Given the description of an element on the screen output the (x, y) to click on. 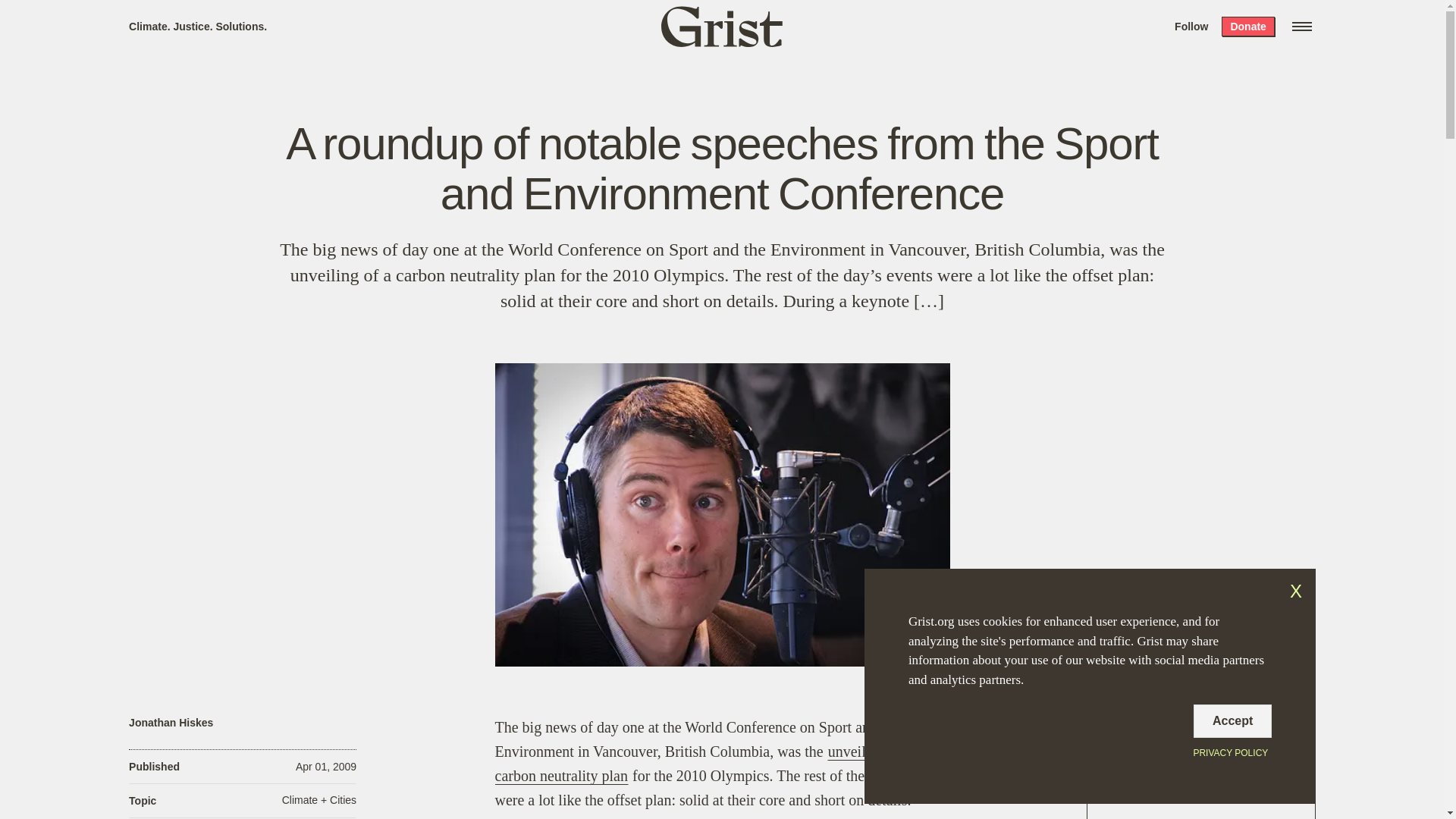
Search (227, 18)
Jonathan Hiskes (170, 722)
Accept (1232, 720)
Grist home (722, 25)
Follow (1191, 26)
Donate (1247, 26)
3rd party ad content (1200, 767)
